Given the description of an element on the screen output the (x, y) to click on. 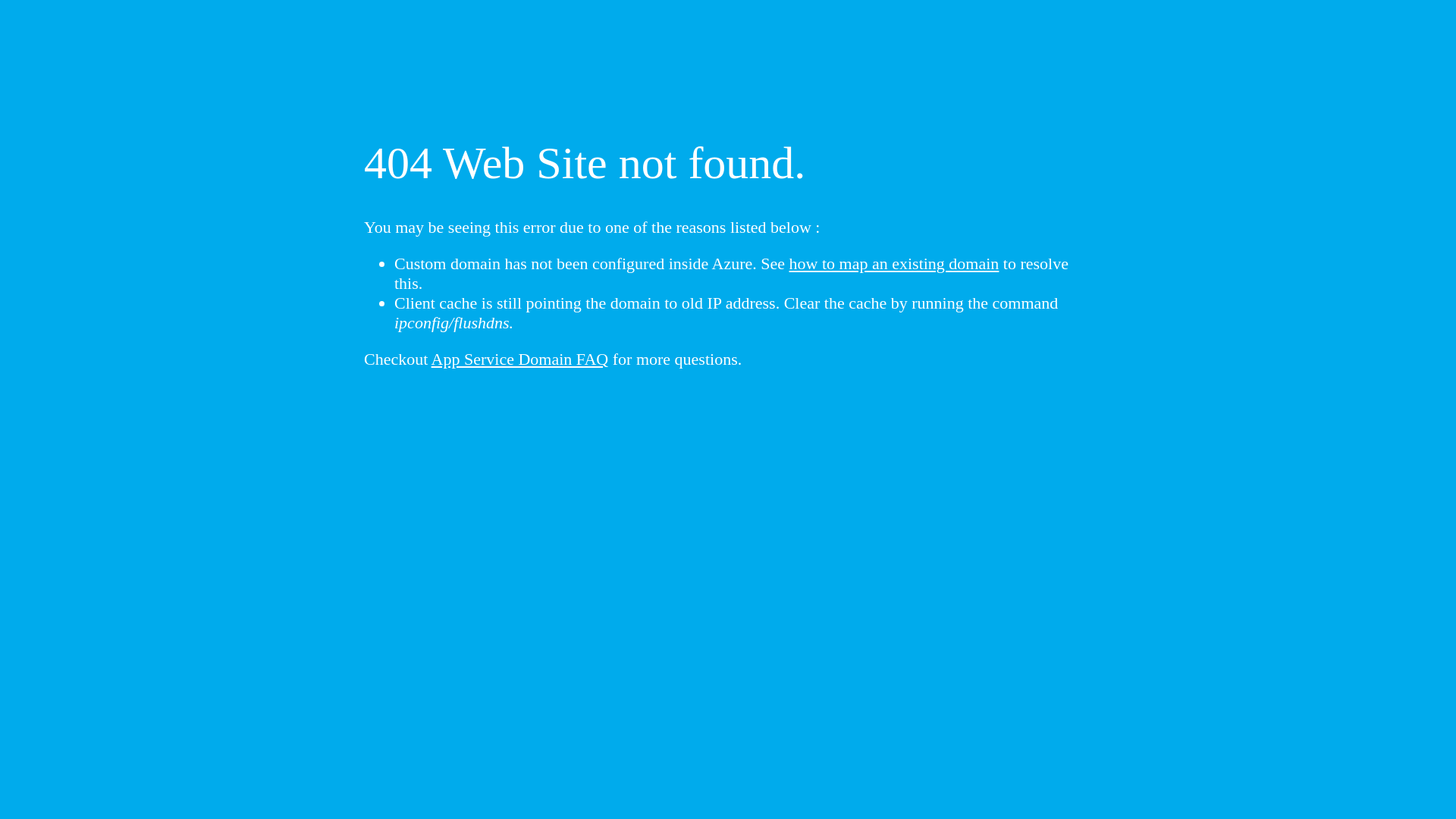
App Service Domain FAQ Element type: text (519, 358)
how to map an existing domain Element type: text (894, 263)
